Given the description of an element on the screen output the (x, y) to click on. 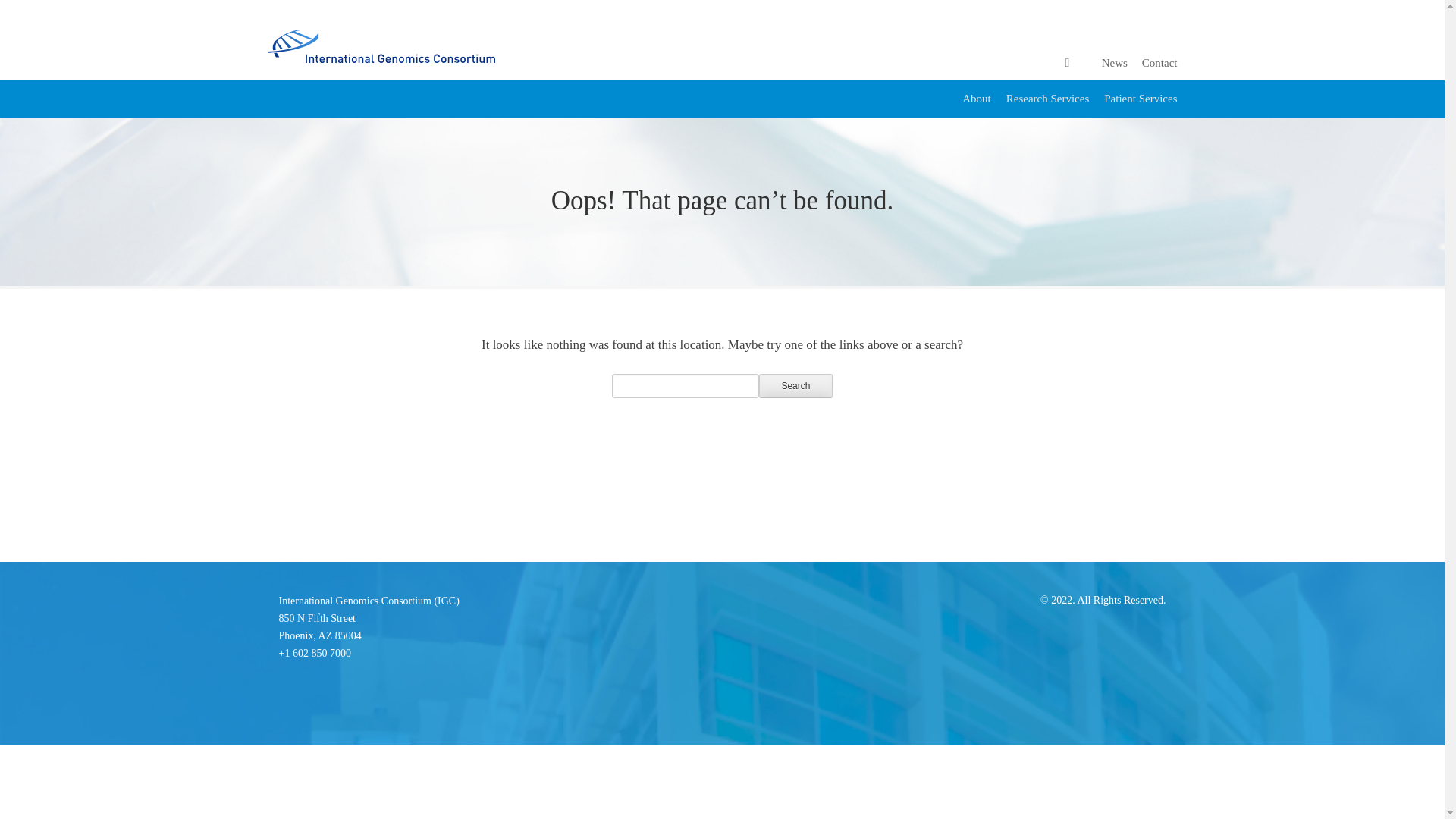
Search (795, 385)
Search (795, 385)
Search (795, 385)
Research Services (320, 626)
Patient Services (1047, 98)
News (1139, 98)
Contact (1114, 62)
